Given the description of an element on the screen output the (x, y) to click on. 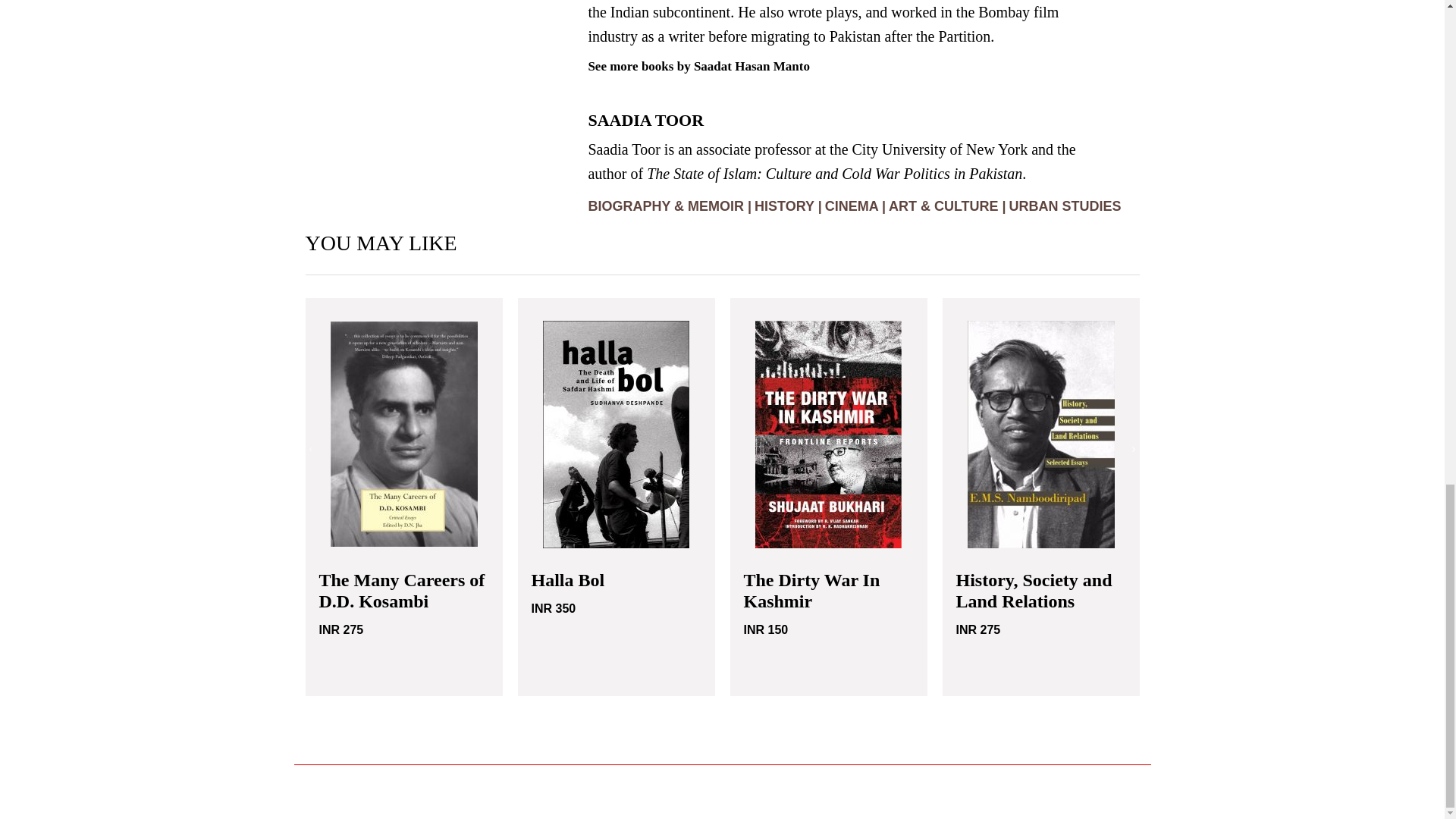
The Many Careers of D.D. Kosambi (401, 590)
See more books by Saadat Hasan Manto (698, 65)
SAADIA TOOR (645, 123)
Halla Bol (567, 579)
